Given the description of an element on the screen output the (x, y) to click on. 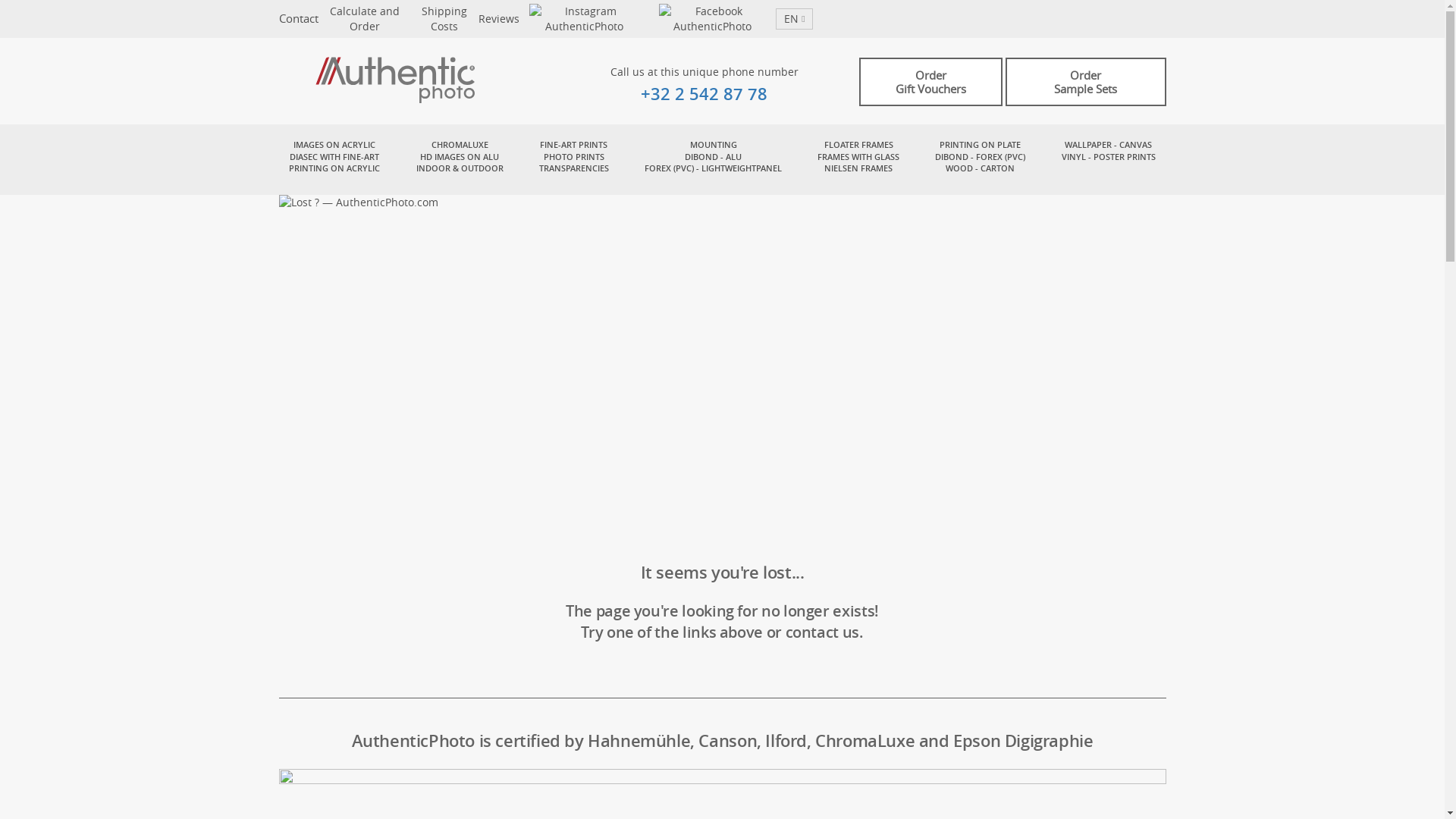
FINE-ART PRINTS
PHOTO PRINTS
TRANSPARENCIES Element type: text (573, 156)
Order
Sample Sets Element type: text (1085, 81)
CHROMALUXE
HD IMAGES ON ALU
INDOOR & OUTDOOR Element type: text (459, 156)
Facebook AuthenticPhoto Element type: hover (711, 17)
Instagram AuthenticPhoto Element type: hover (584, 17)
WALLPAPER - CANVAS
VINYL - POSTER PRINTS Element type: text (1108, 156)
Reviews Element type: text (498, 17)
MOUNTING
DIBOND - ALU
FOREX (PVC) - LIGHTWEIGHTPANEL Element type: text (712, 156)
+32 2 542 87 78 Element type: text (703, 93)
Calculate and Order Element type: text (363, 18)
AuthenticPhoto.com Logo Element type: text (428, 81)
PRINTING ON PLATE
DIBOND - FOREX (PVC)
WOOD - CARTON Element type: text (979, 156)
Order
Gift Vouchers Element type: text (929, 81)
FLOATER FRAMES
FRAMES WITH GLASS
NIELSEN FRAMES Element type: text (858, 156)
IMAGES ON ACRYLIC
DIASEC WITH FINE-ART
PRINTING ON ACRYLIC Element type: text (335, 156)
Shipping Costs Element type: text (444, 18)
